Given the description of an element on the screen output the (x, y) to click on. 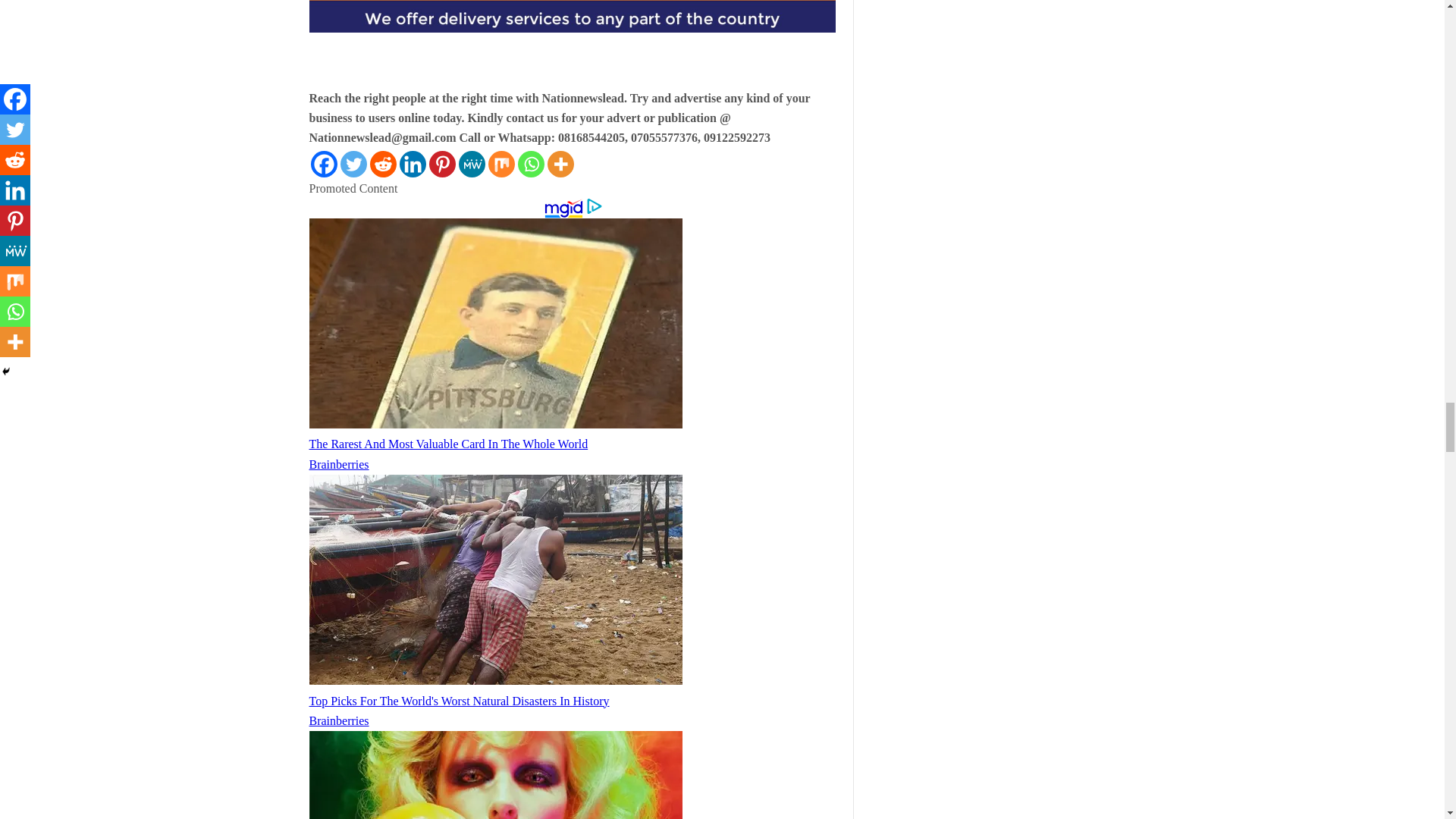
Facebook (324, 163)
Twitter (352, 163)
